Given the description of an element on the screen output the (x, y) to click on. 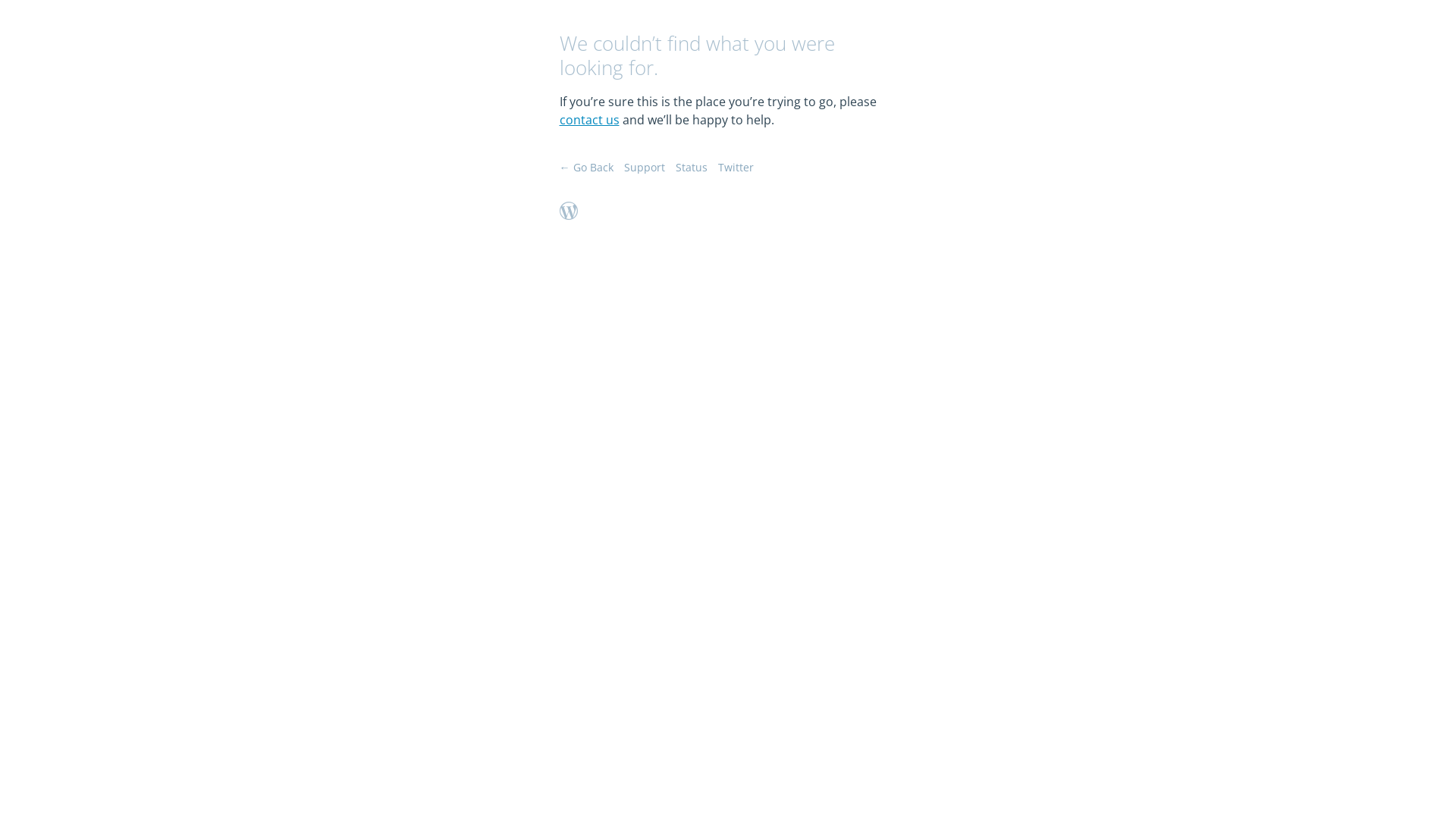
contact us Element type: text (589, 119)
Twitter Element type: text (735, 167)
Status Element type: text (690, 167)
Support Element type: text (643, 167)
